Given the description of an element on the screen output the (x, y) to click on. 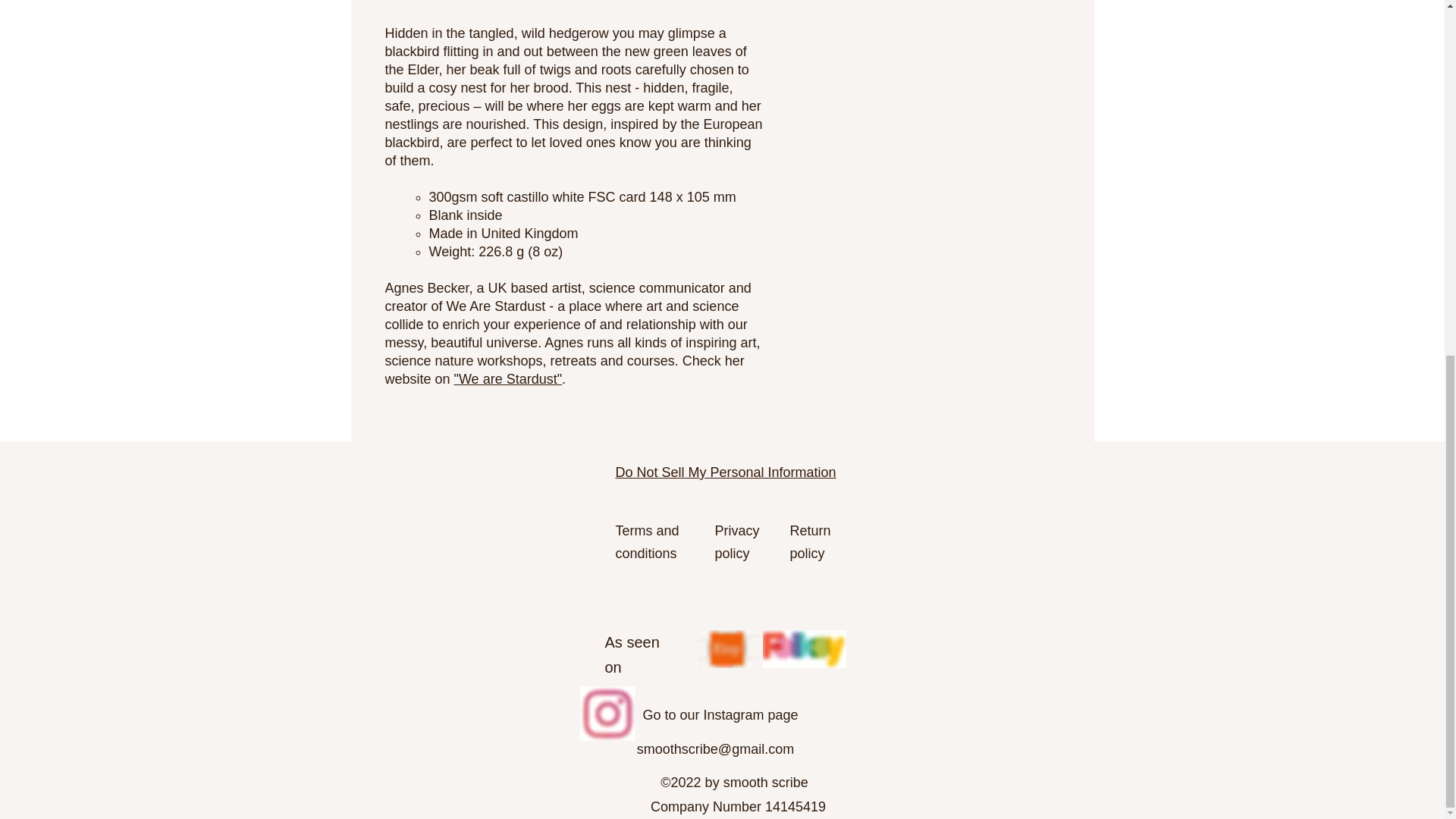
Return policy  (810, 542)
Do Not Sell My Personal Information (725, 473)
"We are Stardust" (508, 378)
Privacy policy (736, 542)
Terms and conditions (647, 542)
Go to our Instagram page (720, 714)
